Given the description of an element on the screen output the (x, y) to click on. 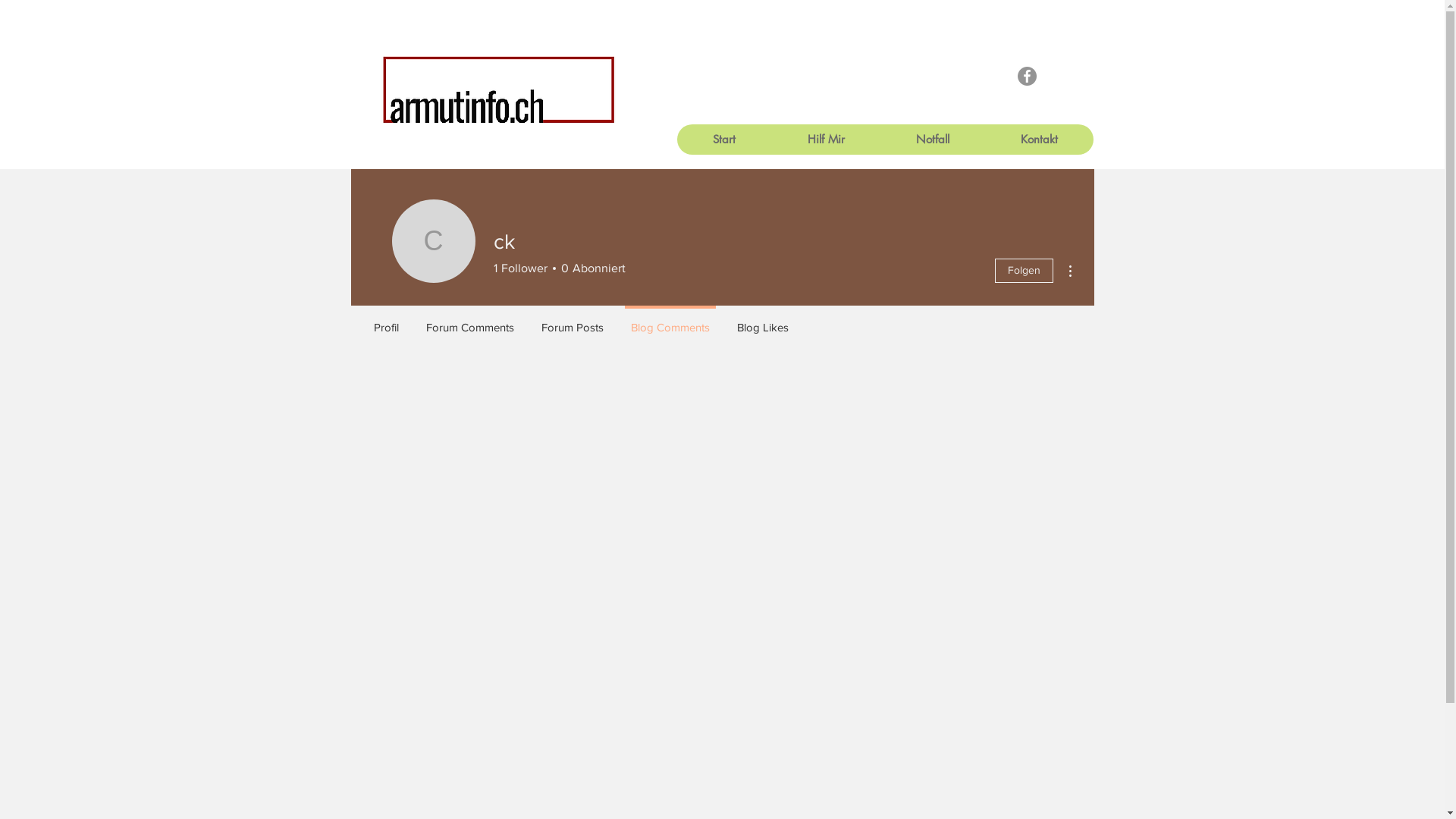
Site Search Element type: hover (508, 149)
Start Element type: text (723, 139)
Kontakt Element type: text (1038, 139)
Forum Posts Element type: text (572, 320)
1
Follower Element type: text (519, 268)
Profil Element type: text (385, 320)
Folgen Element type: text (1023, 270)
Blog Comments Element type: text (670, 320)
Notfall Element type: text (931, 139)
0
Abonniert Element type: text (589, 268)
Blog Likes Element type: text (762, 320)
Hilf Mir Element type: text (824, 139)
Forum Comments Element type: text (469, 320)
